Given the description of an element on the screen output the (x, y) to click on. 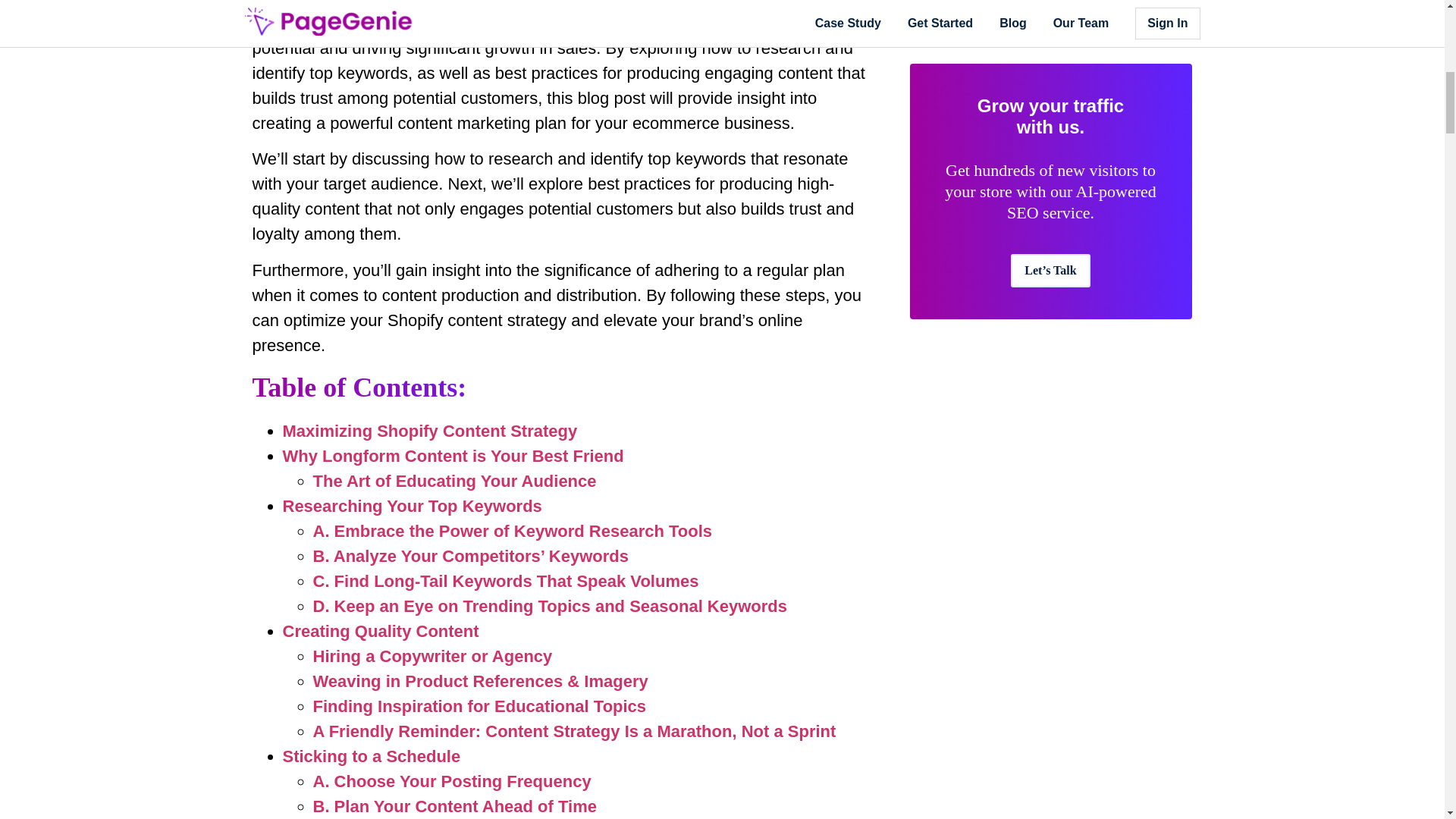
D. Keep an Eye on Trending Topics and Seasonal Keywords (550, 606)
Sticking to a Schedule (371, 755)
Hiring a Copywriter or Agency (432, 656)
A. Choose Your Posting Frequency (452, 781)
A. Embrace the Power of Keyword Research Tools (512, 530)
B. Plan Your Content Ahead of Time (454, 805)
Researching Your Top Keywords (411, 505)
Finding Inspiration for Educational Topics (479, 705)
Maximizing Shopify Content Strategy (429, 430)
Why Longform Content is Your Best Friend (452, 456)
C. Find Long-Tail Keywords That Speak Volumes (505, 580)
Creating Quality Content (380, 630)
The Art of Educating Your Audience (454, 480)
